Given the description of an element on the screen output the (x, y) to click on. 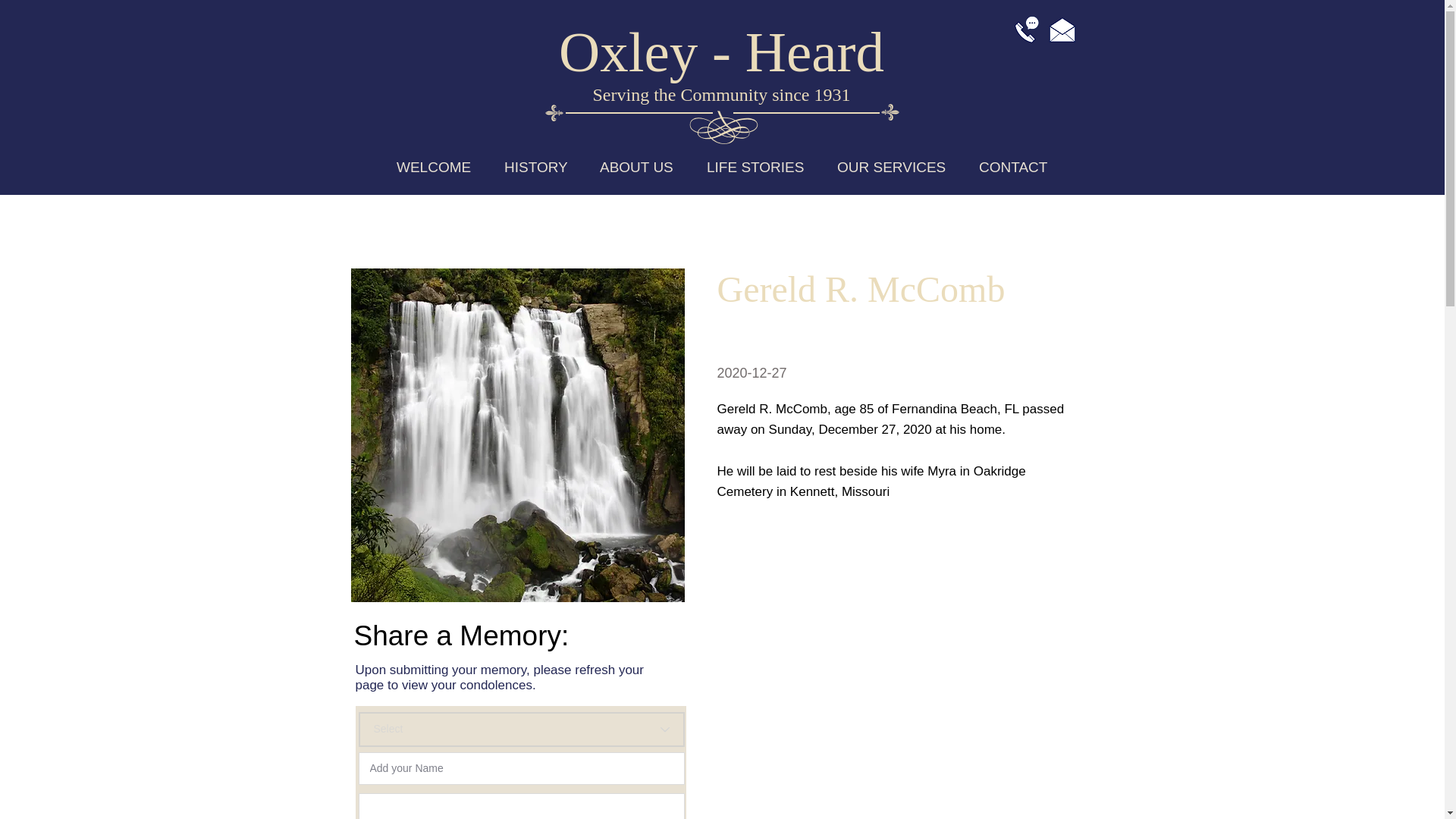
ABOUT US (636, 167)
Serving the Community since 1931 (721, 94)
OUR SERVICES (891, 167)
CONTACT (1013, 167)
Oxley - Heard (721, 51)
WELCOME (433, 167)
HISTORY (535, 167)
LIFE STORIES (755, 167)
Waterfall .jpg (517, 434)
